Given the description of an element on the screen output the (x, y) to click on. 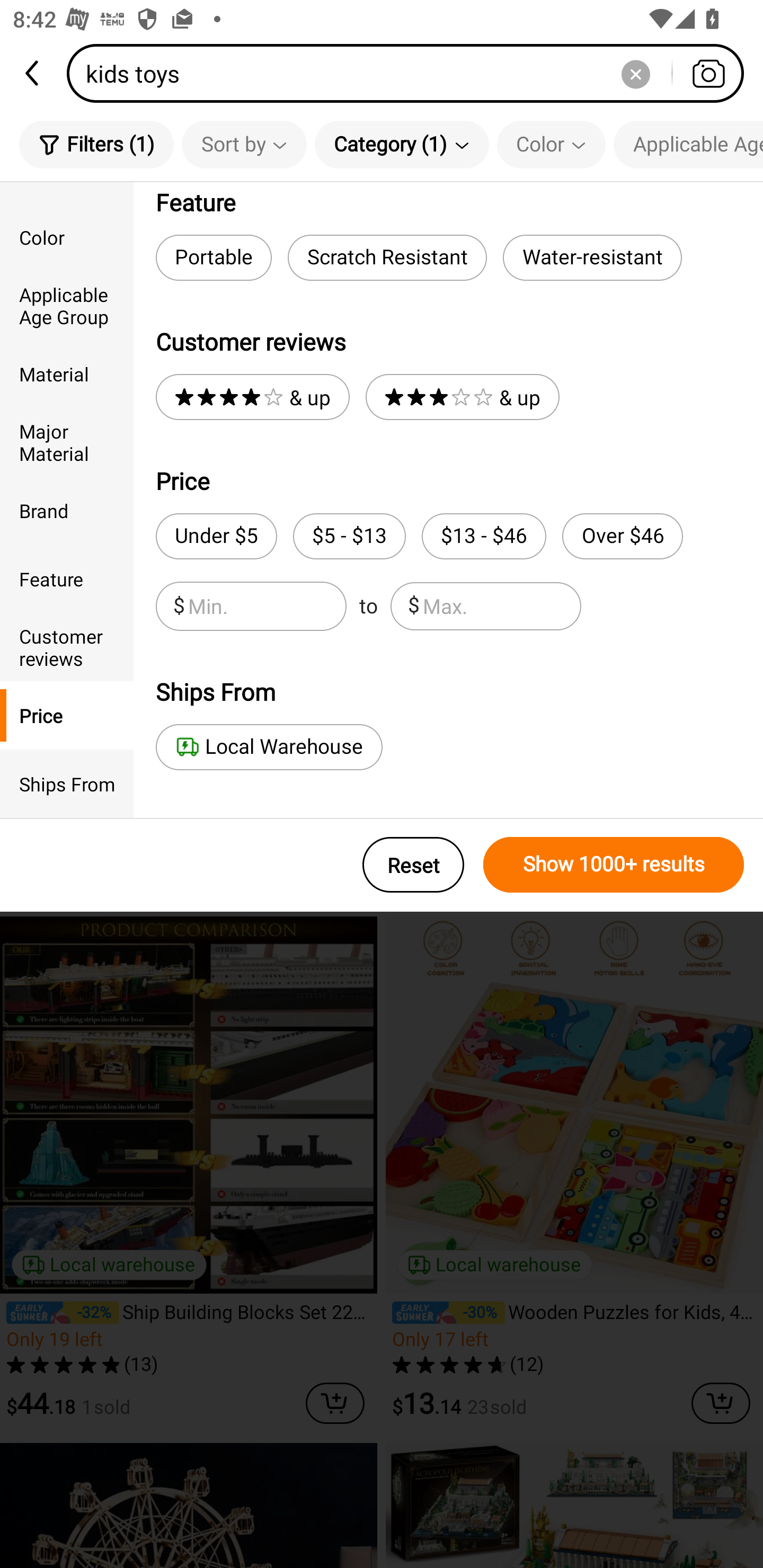
back (33, 72)
kids toys (411, 73)
Delete search history (635, 73)
Search by photo (708, 73)
Filters (1) (96, 143)
Sort by (243, 143)
Category (1) (401, 143)
Color (550, 143)
Applicable Age Group (688, 143)
Color (66, 236)
Portable (213, 257)
Scratch Resistant (386, 257)
Water-resistant (592, 257)
Applicable Age Group (66, 305)
Material (66, 373)
& up (252, 397)
& up (462, 397)
Major Material (66, 441)
Brand (66, 510)
Under $5 (215, 535)
$5 - $13 (348, 535)
$13 - $46 (483, 535)
Over $46 (622, 535)
Feature (66, 578)
$ Min. to $ Max. (368, 605)
Customer reviews (66, 646)
Price (66, 714)
Local Warehouse (268, 746)
Ships From (66, 783)
Reset (412, 864)
Show 1000+ results (612, 864)
